Given the description of an element on the screen output the (x, y) to click on. 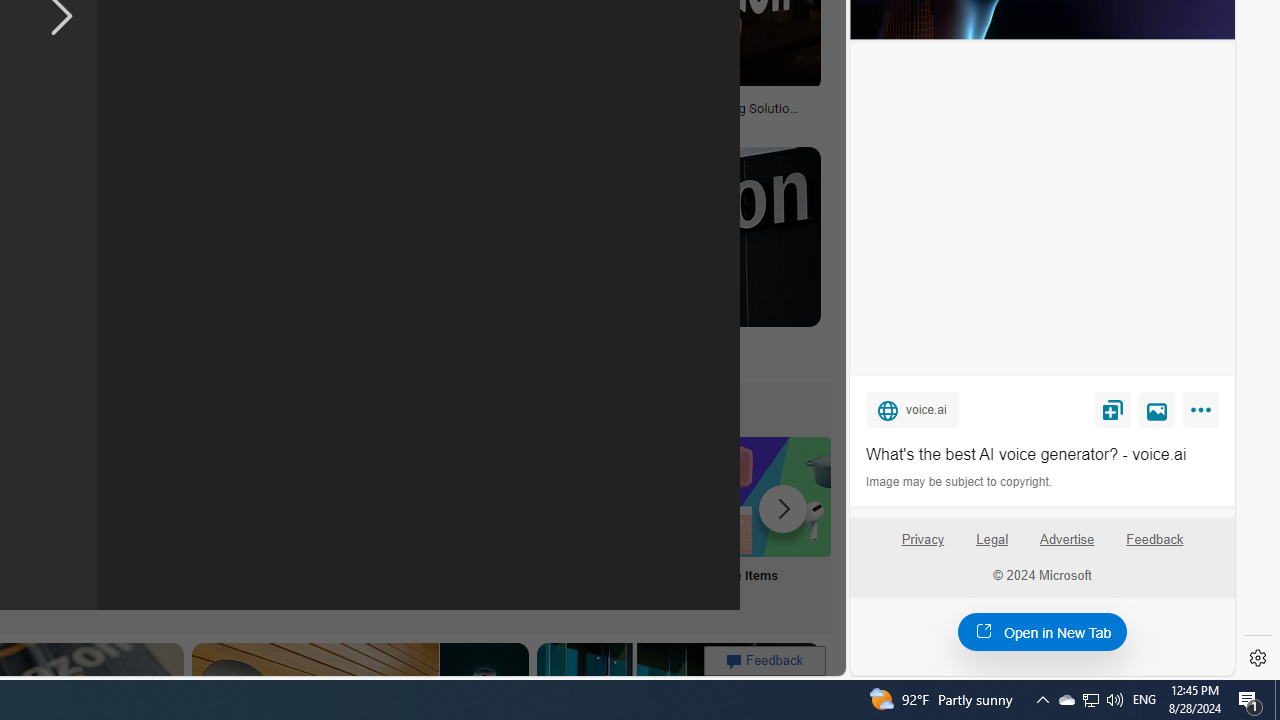
Amazon Mini TV (116, 496)
Settings (1258, 658)
3d illustration of amazon logo 18779928 PNG (371, 114)
Open in New Tab (1042, 631)
mobilemarketingmagazine.com (651, 123)
Advertise (1066, 539)
View image (1157, 409)
Amazonprotothema.grSave (662, 260)
Amazon Prime Label Prime Label (511, 521)
cordcuttersnews.com (331, 359)
Amazon Sale Items (775, 496)
